Given the description of an element on the screen output the (x, y) to click on. 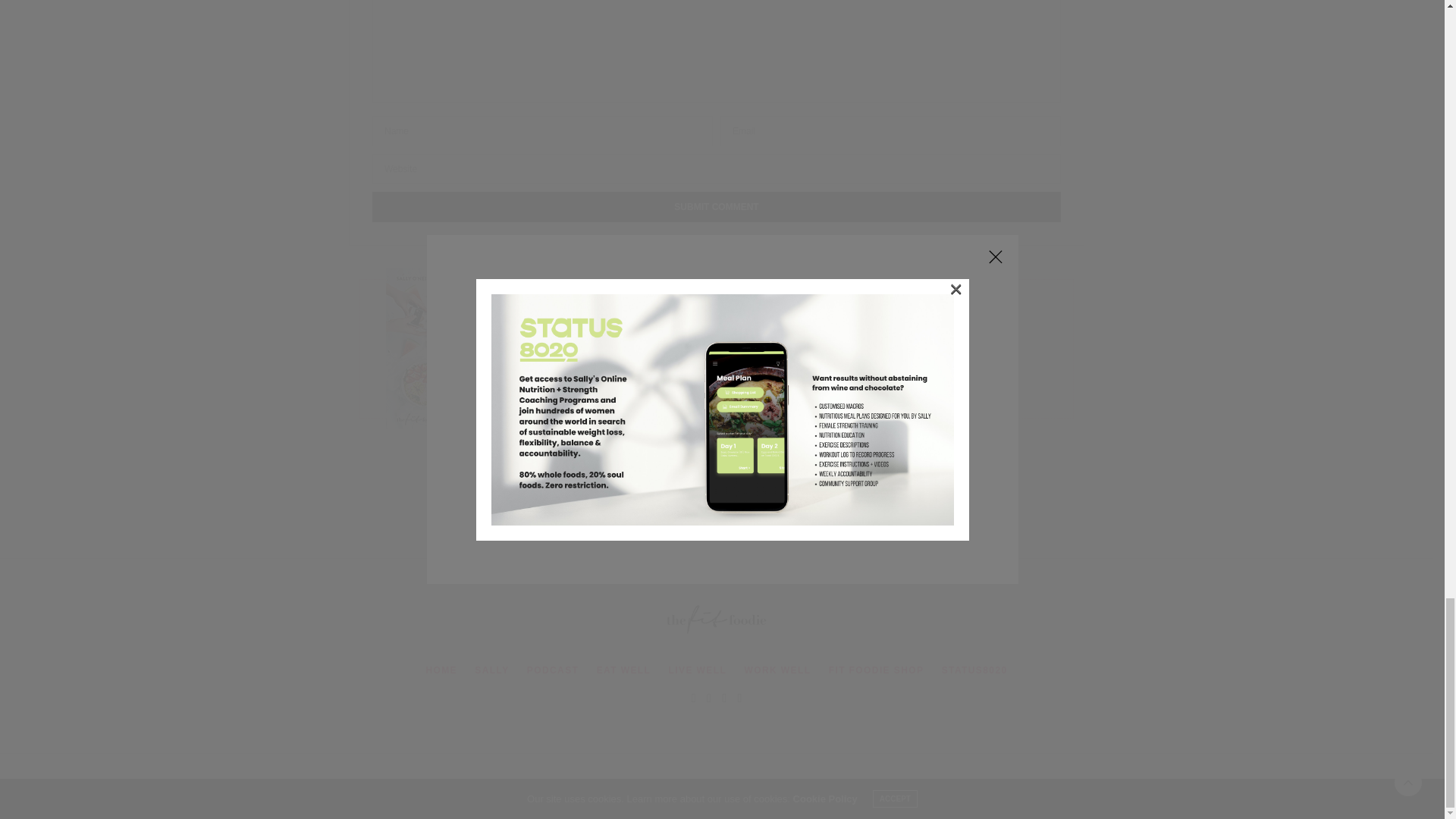
Submit Comment (716, 206)
